Given the description of an element on the screen output the (x, y) to click on. 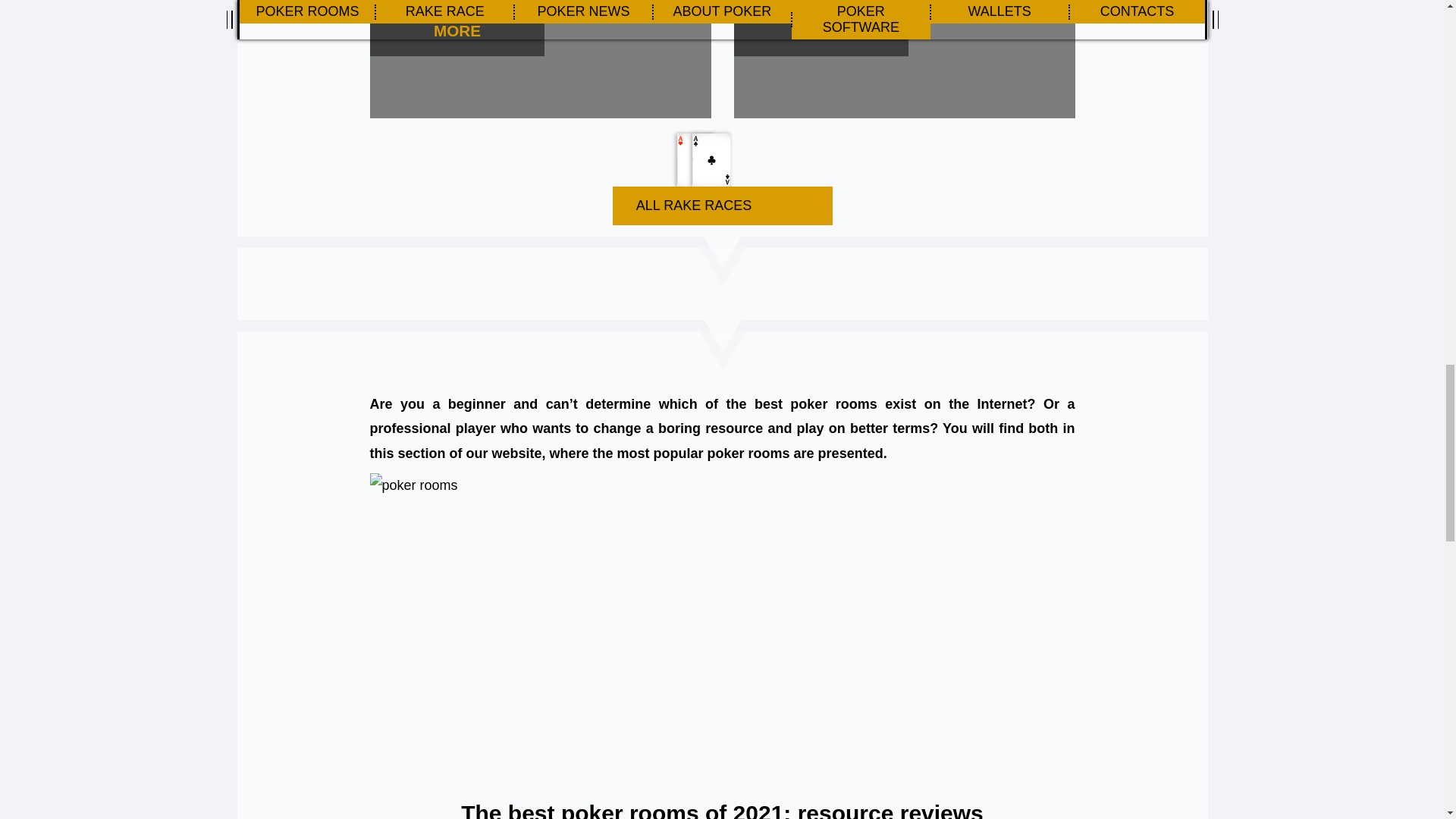
MORE (809, 27)
ALL RAKE RACES (722, 177)
MORE (445, 27)
